Given the description of an element on the screen output the (x, y) to click on. 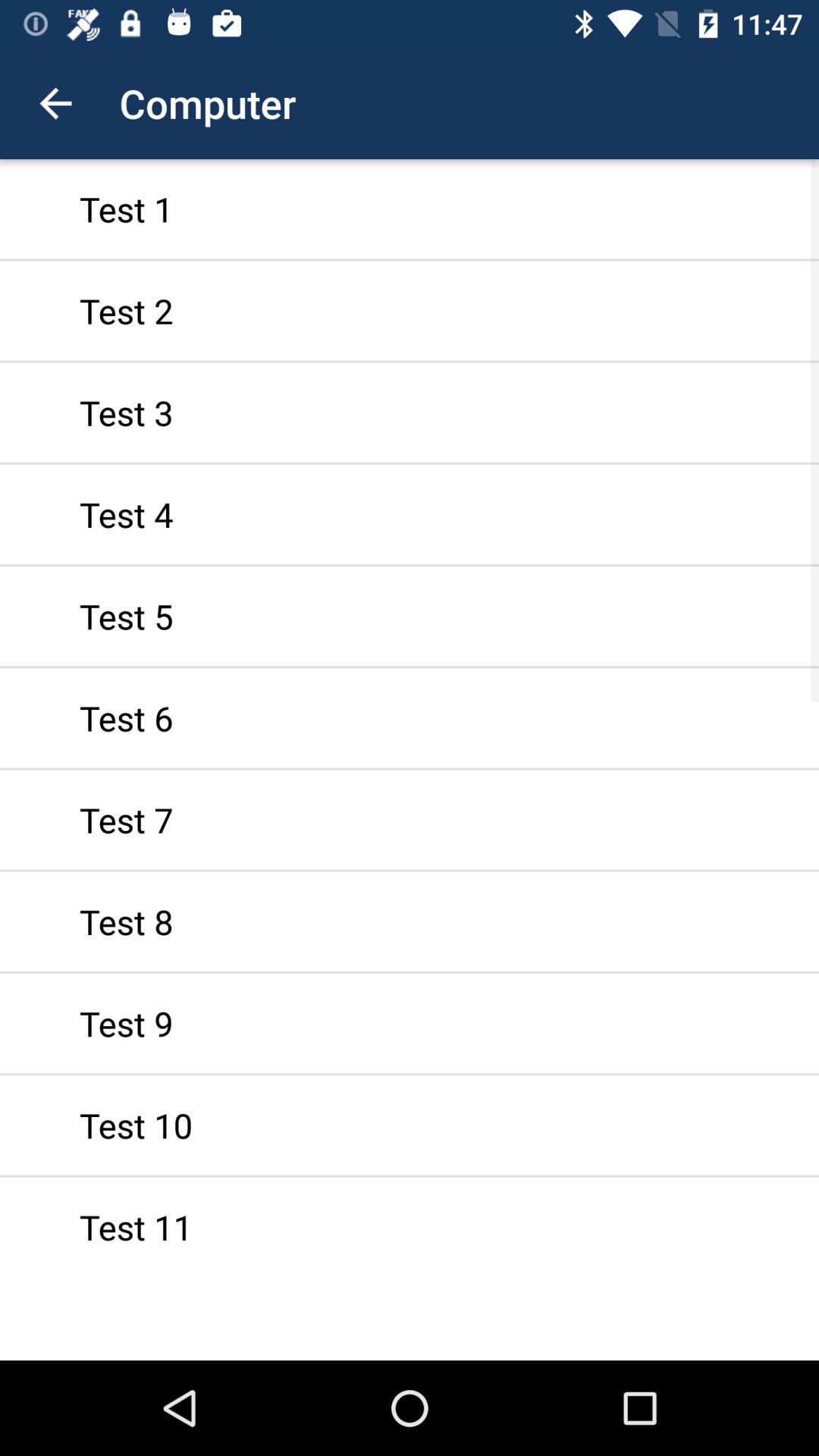
open the item below the test 6 icon (409, 819)
